Given the description of an element on the screen output the (x, y) to click on. 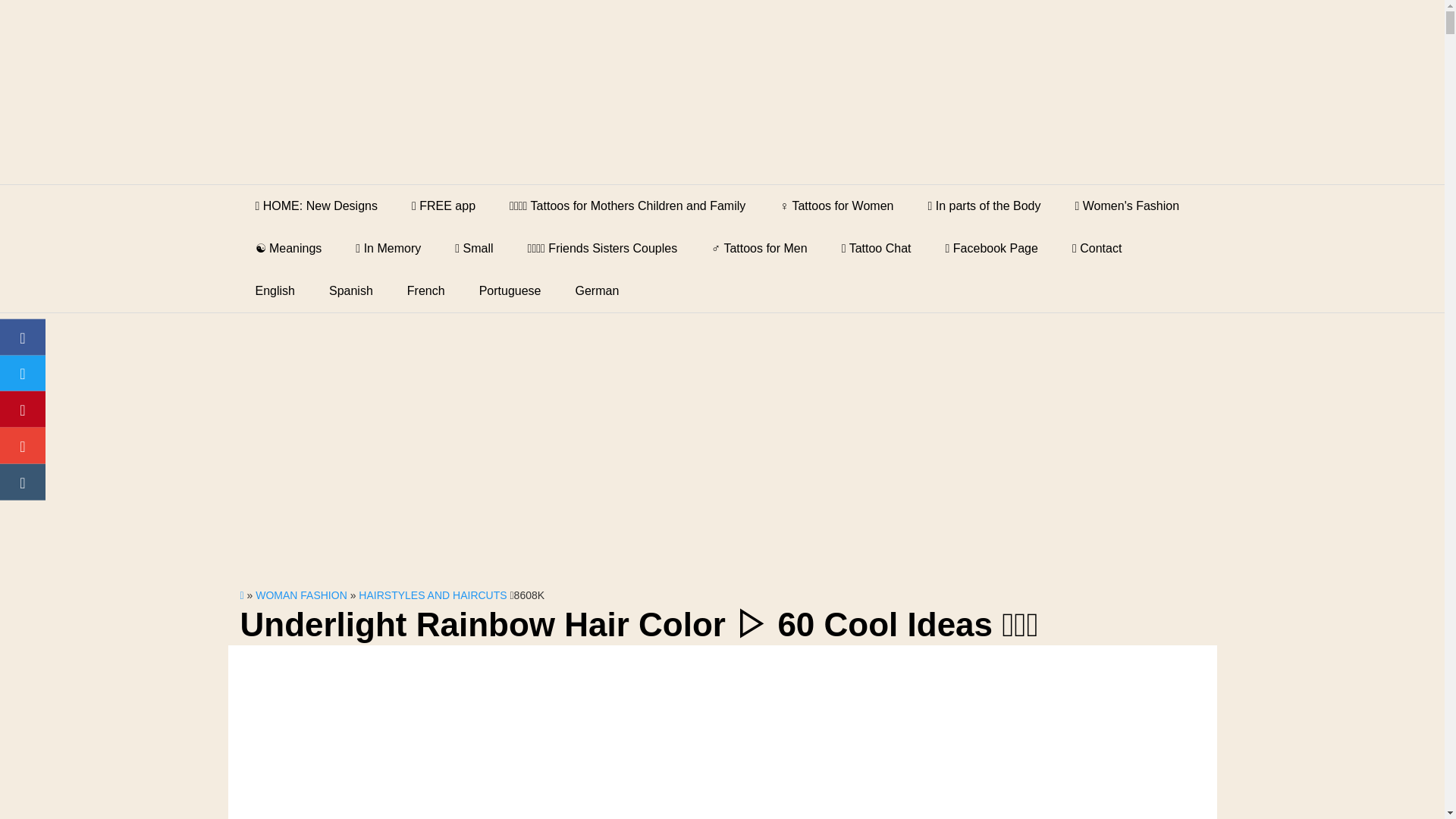
French (425, 291)
Spanish (351, 291)
German (597, 291)
Portuguese (510, 291)
English (274, 291)
WOMAN FASHION (301, 594)
HAIRSTYLES AND HAIRCUTS (432, 594)
